Given the description of an element on the screen output the (x, y) to click on. 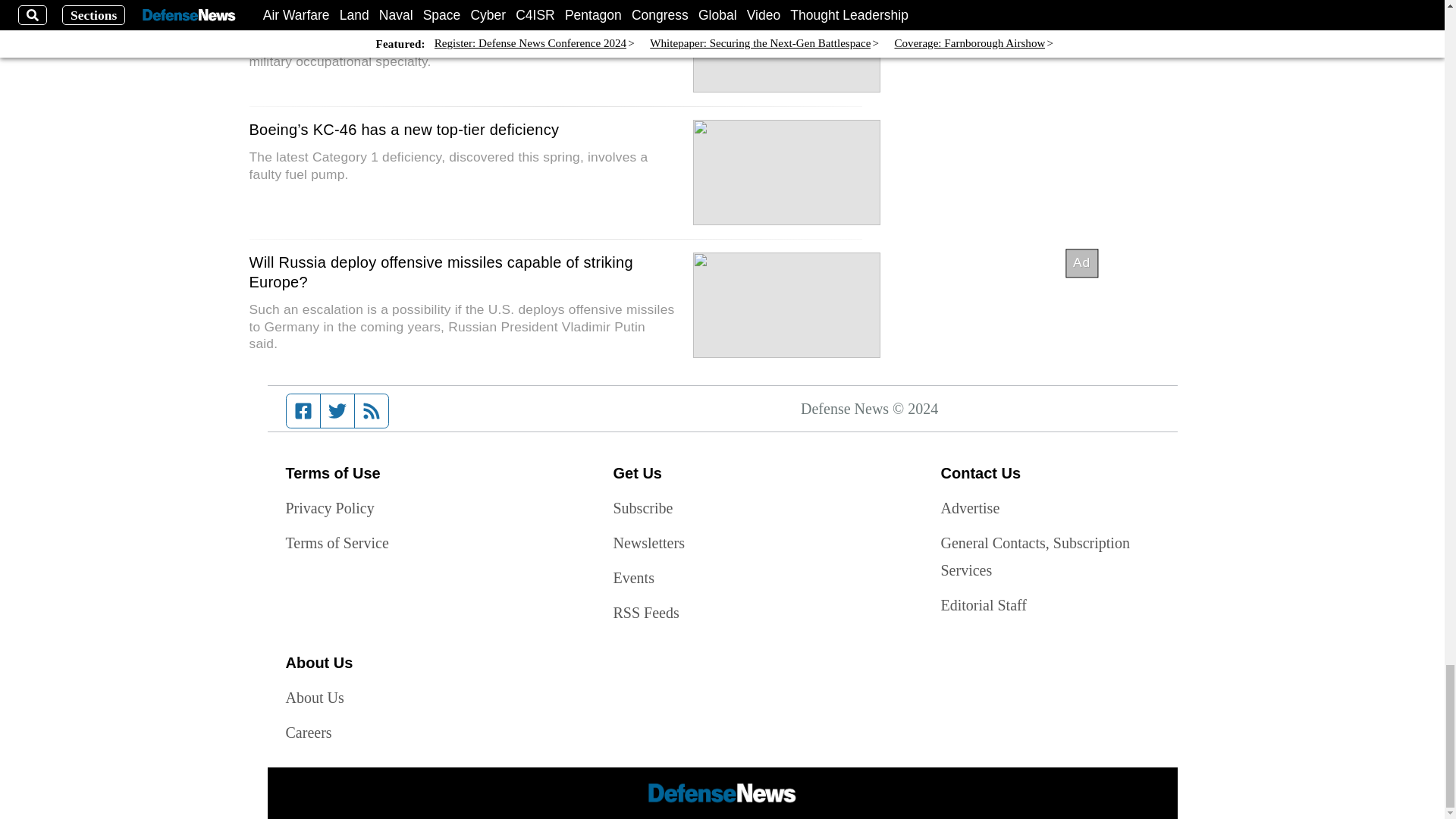
Facebook page (303, 410)
RSS feed (371, 410)
Twitter feed (336, 410)
